Given the description of an element on the screen output the (x, y) to click on. 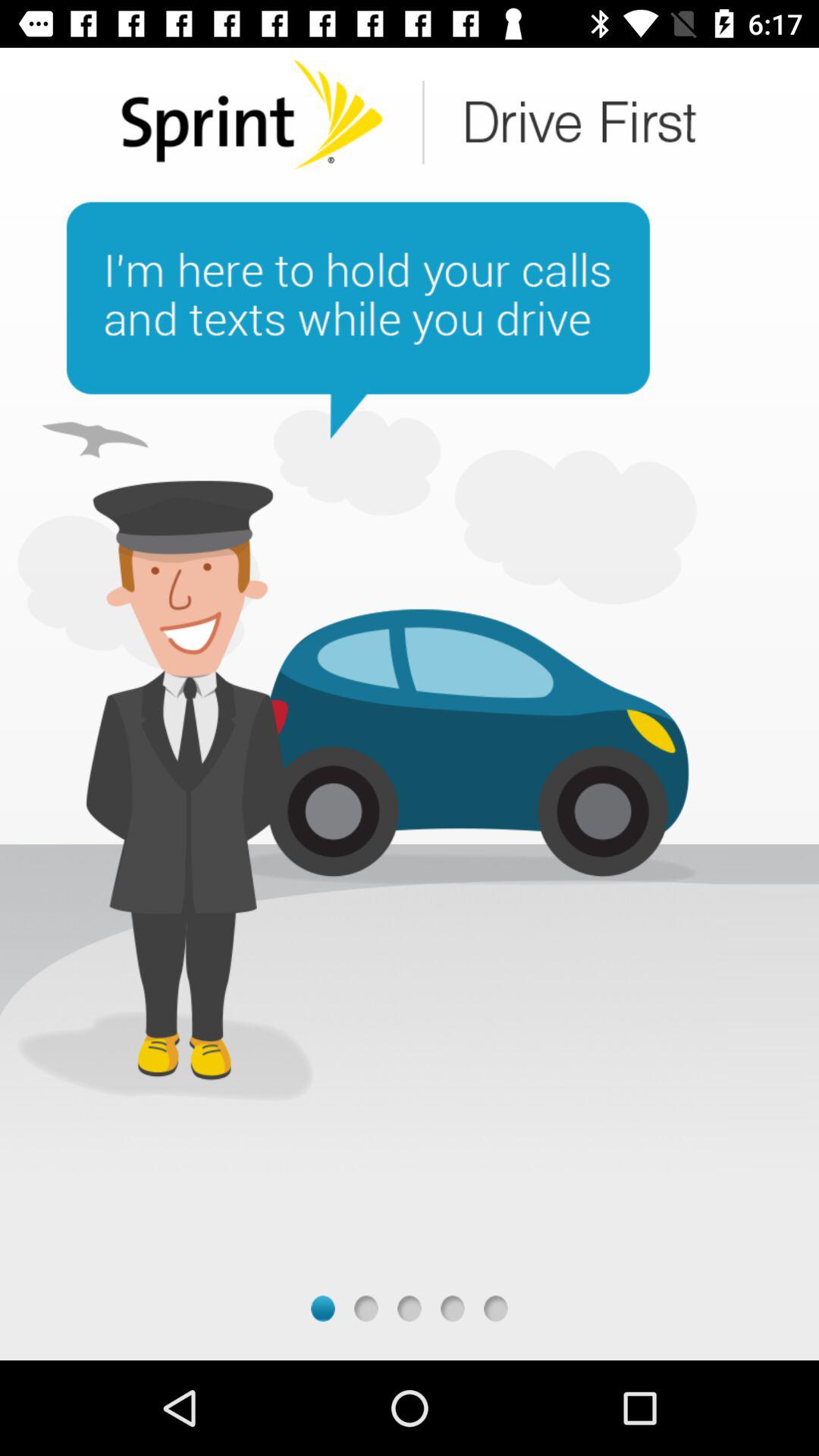
next page (366, 1308)
